Given the description of an element on the screen output the (x, y) to click on. 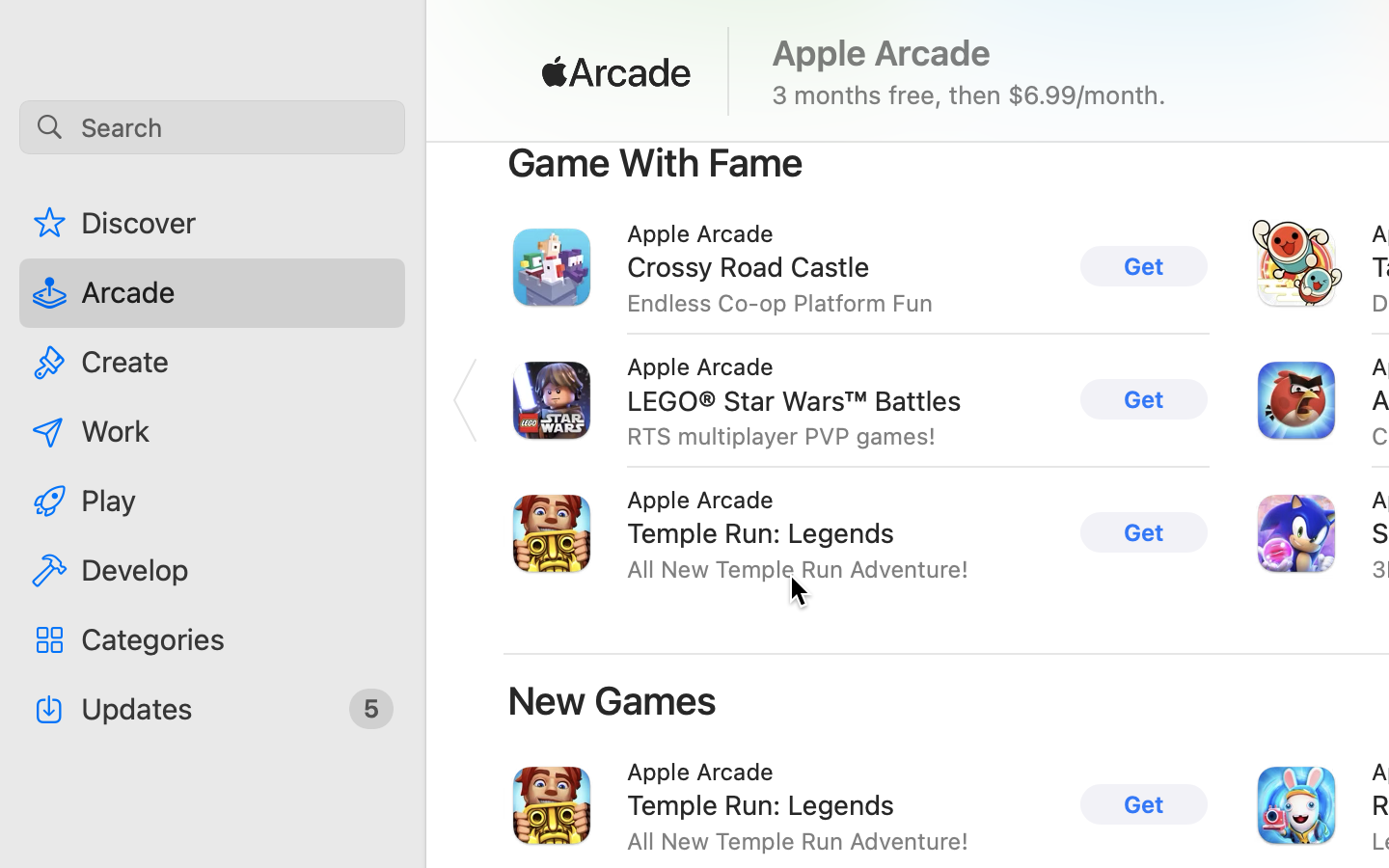
3 months free, then $6.99/month. Element type: AXStaticText (969, 94)
Apple Arcade Element type: AXStaticText (881, 52)
New Games Element type: AXStaticText (612, 700)
Game With Fame Element type: AXStaticText (655, 161)
